Given the description of an element on the screen output the (x, y) to click on. 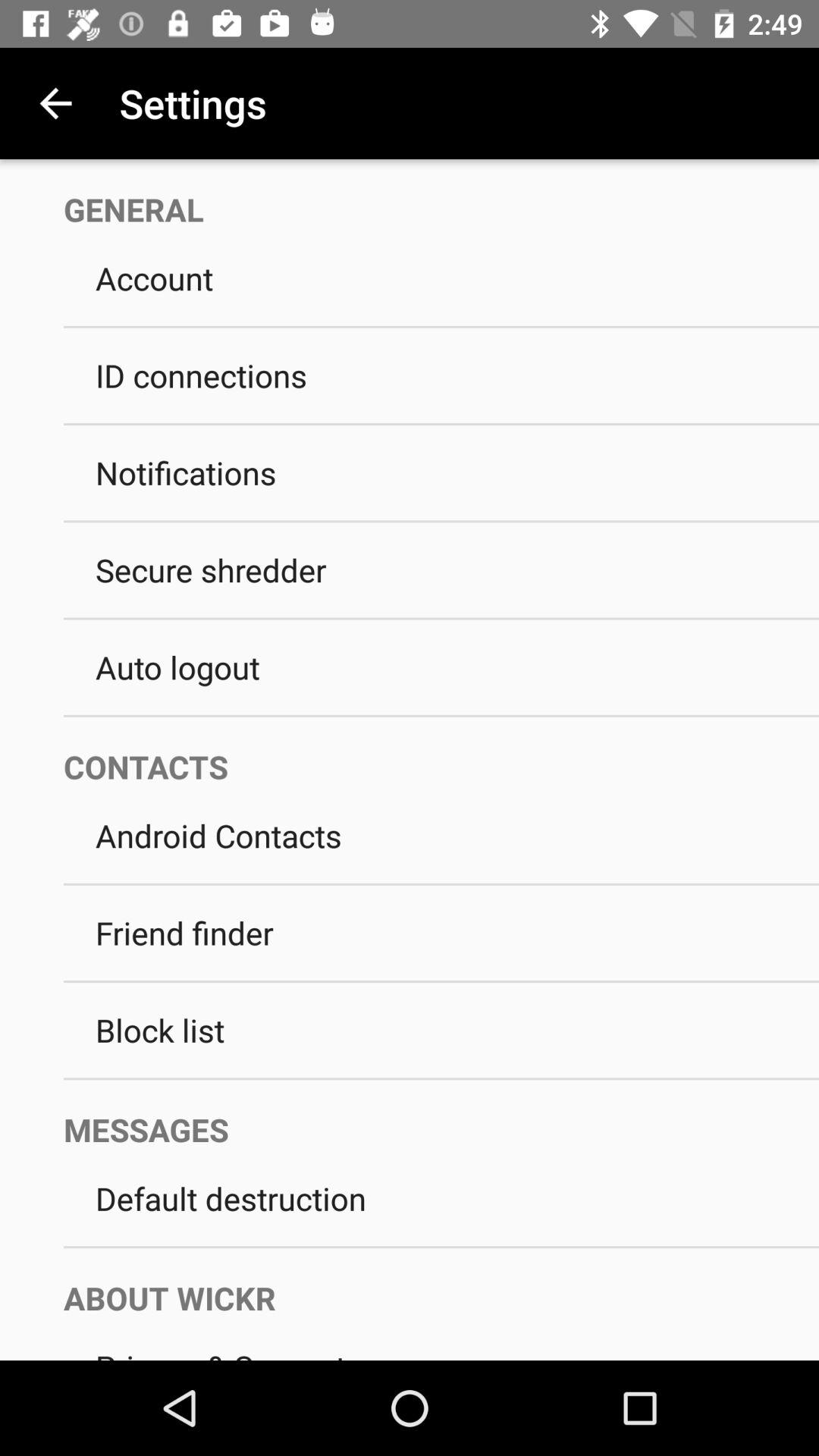
select the secure shredder icon (441, 569)
